Given the description of an element on the screen output the (x, y) to click on. 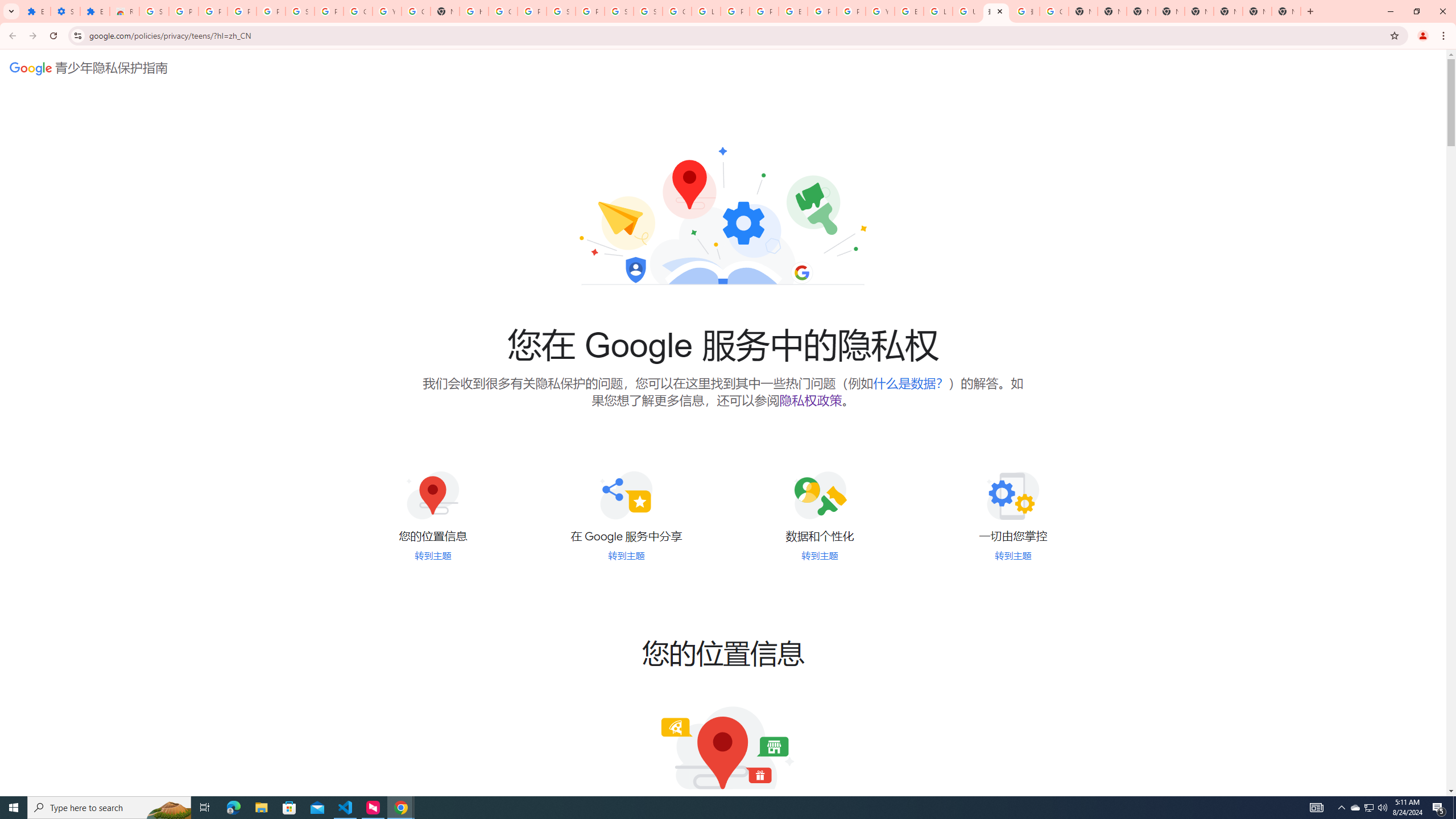
Privacy Help Center - Policies Help (734, 11)
Sign in - Google Accounts (619, 11)
New Tab (1286, 11)
Privacy Help Center - Policies Help (763, 11)
YouTube (879, 11)
